Given the description of an element on the screen output the (x, y) to click on. 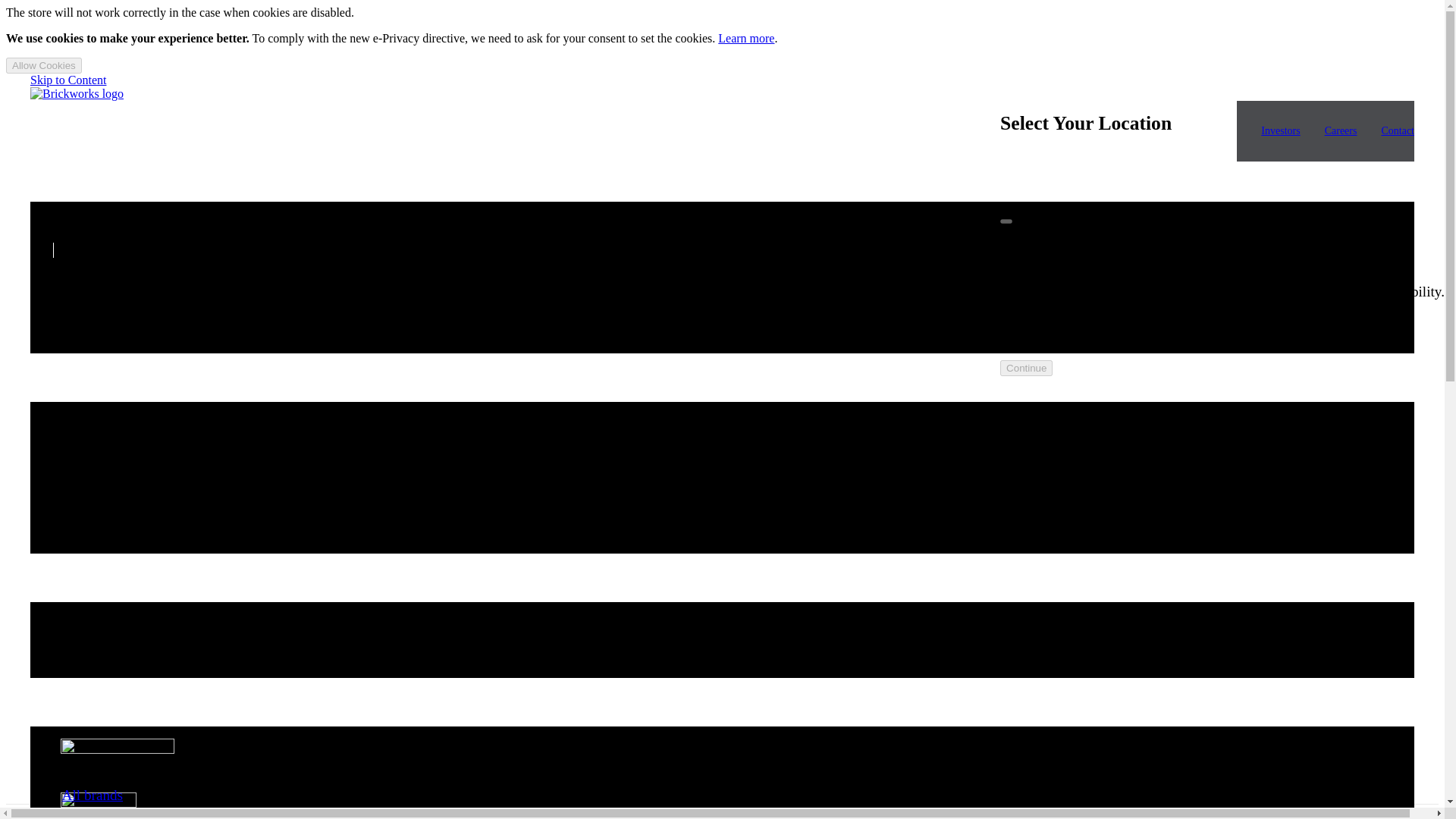
Continue (1026, 367)
Continue (1026, 367)
Skip to Content (68, 79)
Contact (1396, 130)
Allow Cookies (43, 65)
All brands (92, 795)
Investors (1280, 130)
Careers (1340, 130)
Close (1005, 220)
Learn more (745, 38)
